Given the description of an element on the screen output the (x, y) to click on. 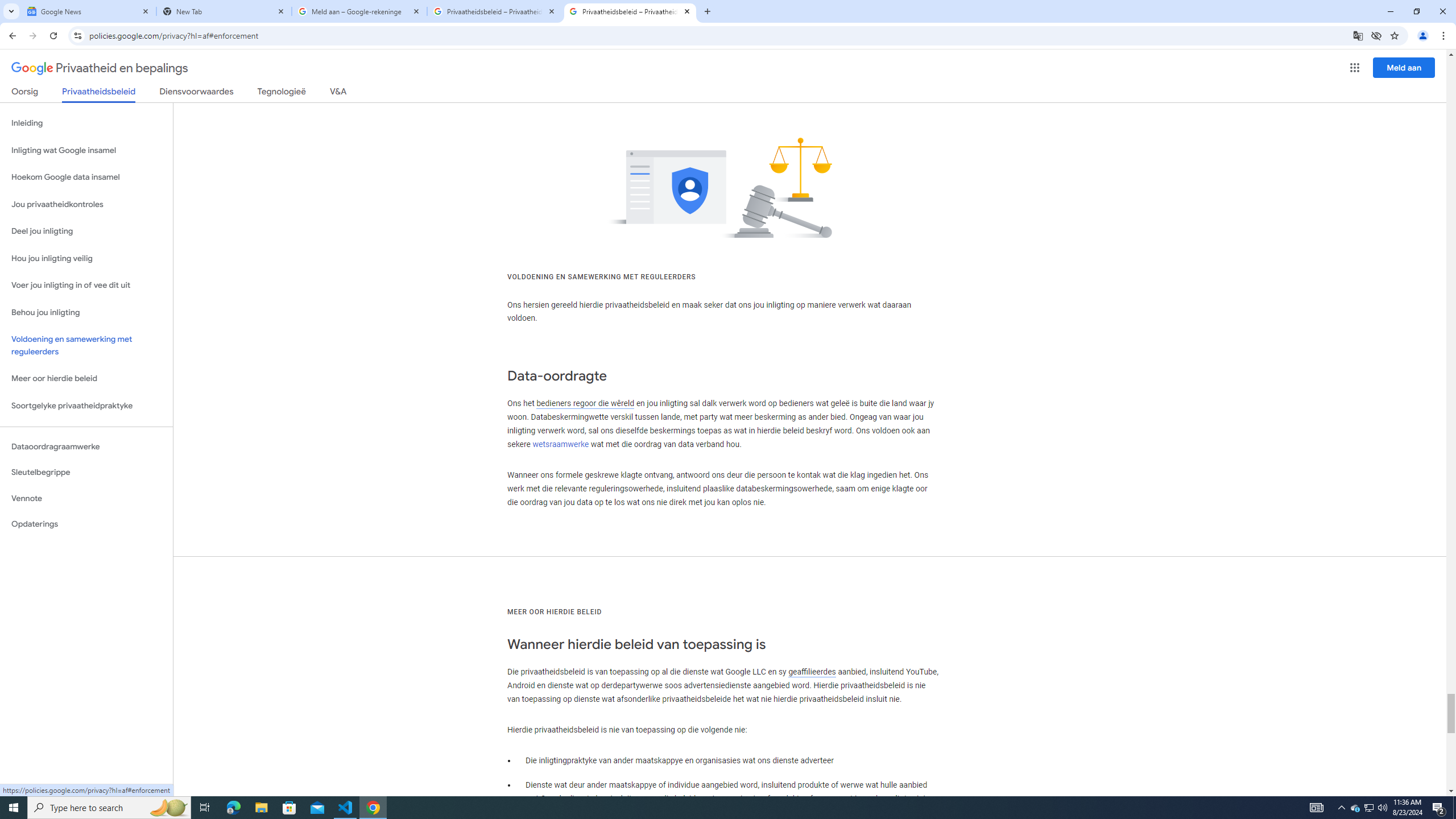
Translate this page (1358, 35)
